Given the description of an element on the screen output the (x, y) to click on. 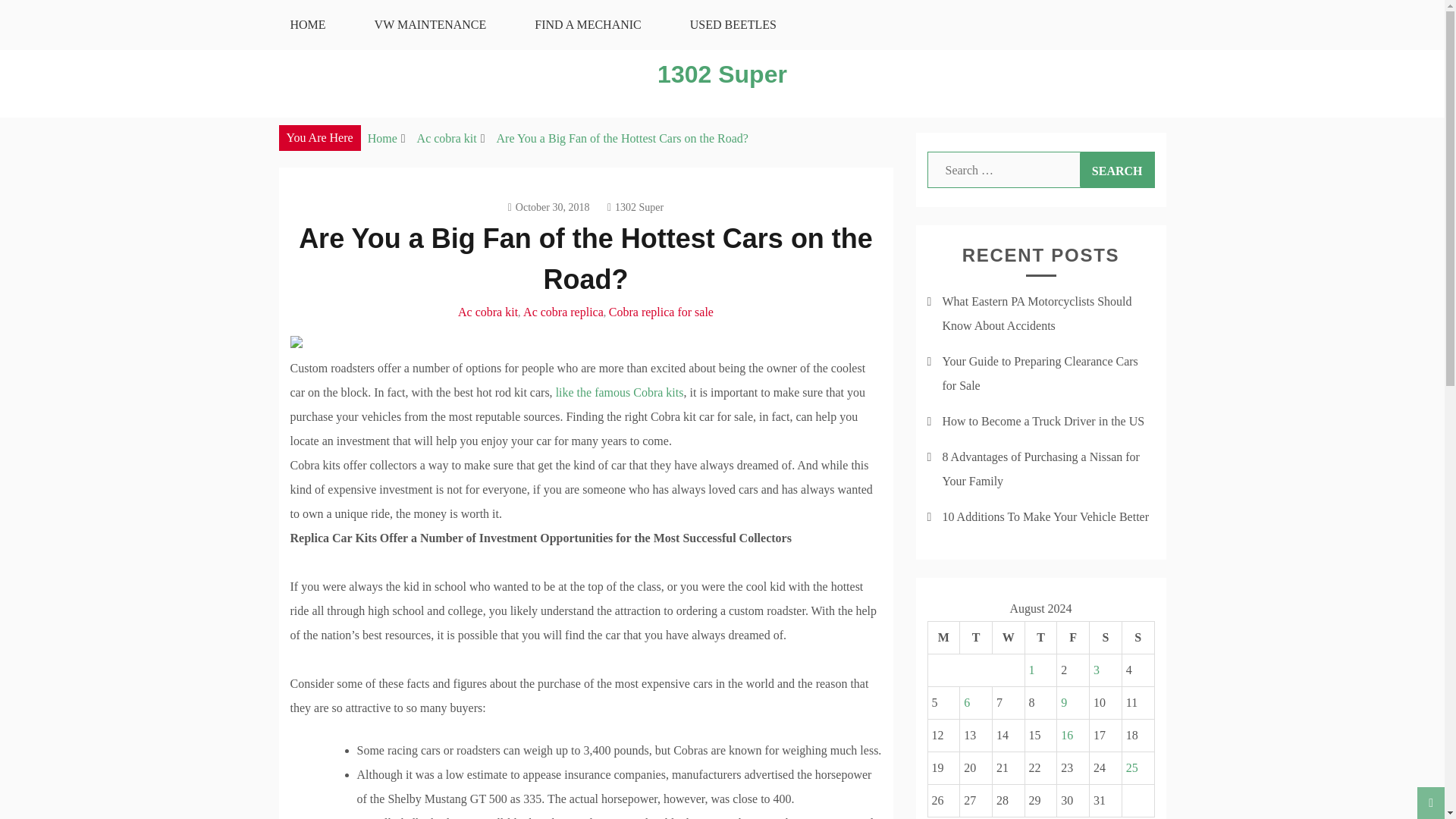
Friday (1073, 637)
HOME (306, 24)
October 30, 2018 (548, 206)
25 (1131, 767)
Cobra replica for sale (660, 311)
10 Additions To Make Your Vehicle Better (1045, 516)
Search (1117, 169)
Ac cobra kit (488, 311)
Thursday (1041, 637)
Monday (943, 637)
